Given the description of an element on the screen output the (x, y) to click on. 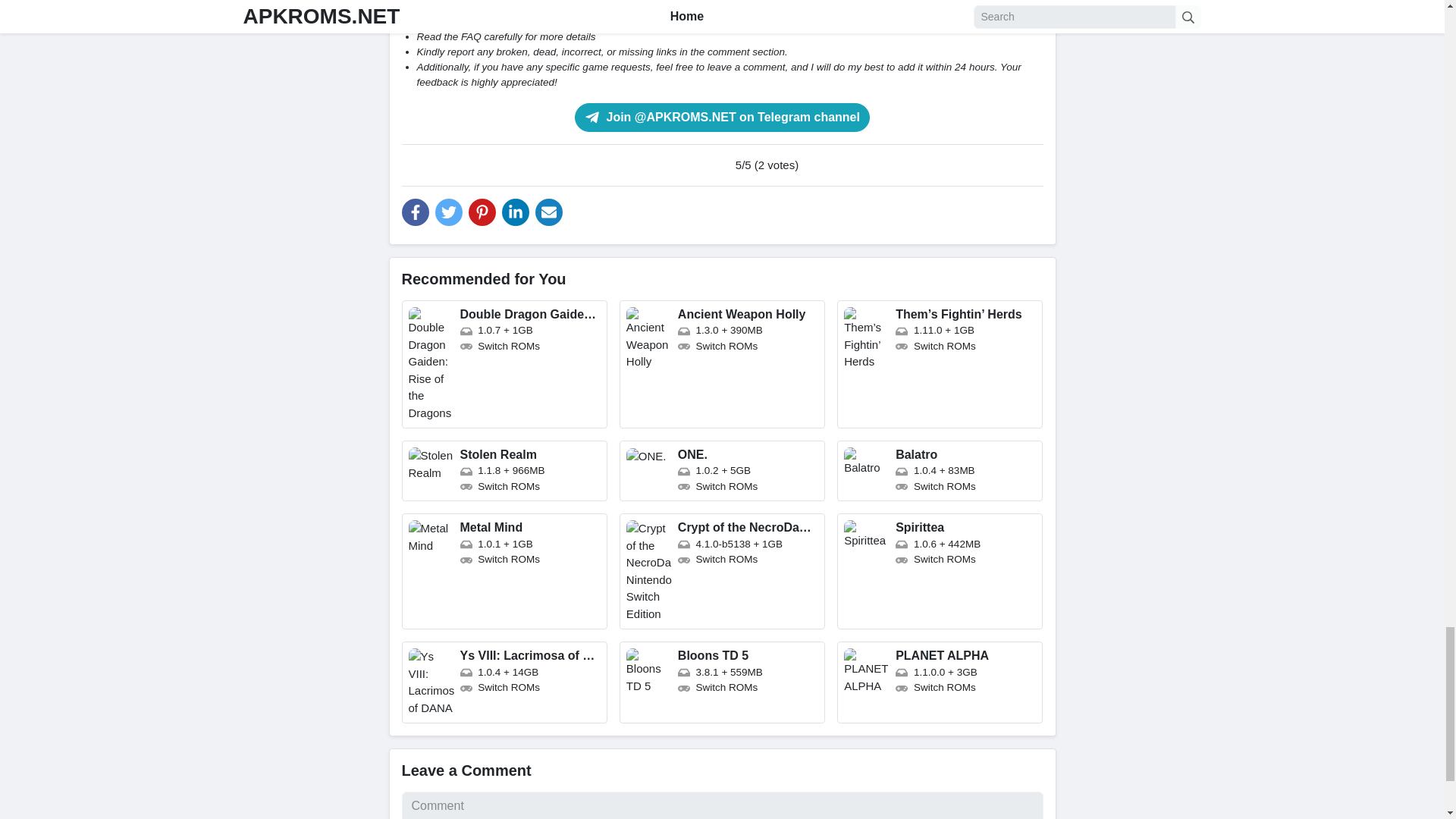
Stolen Realm (504, 470)
Bloons TD 5 (722, 682)
Ancient Weapon Holly (722, 364)
Double Dragon Gaiden: Rise of the Dragons (504, 364)
Ys VIII: Lacrimosa of DANA (504, 682)
ONE. (722, 470)
Balatro (939, 470)
Spirittea (939, 571)
PLANET ALPHA (939, 682)
Metal Mind (504, 571)
